Given the description of an element on the screen output the (x, y) to click on. 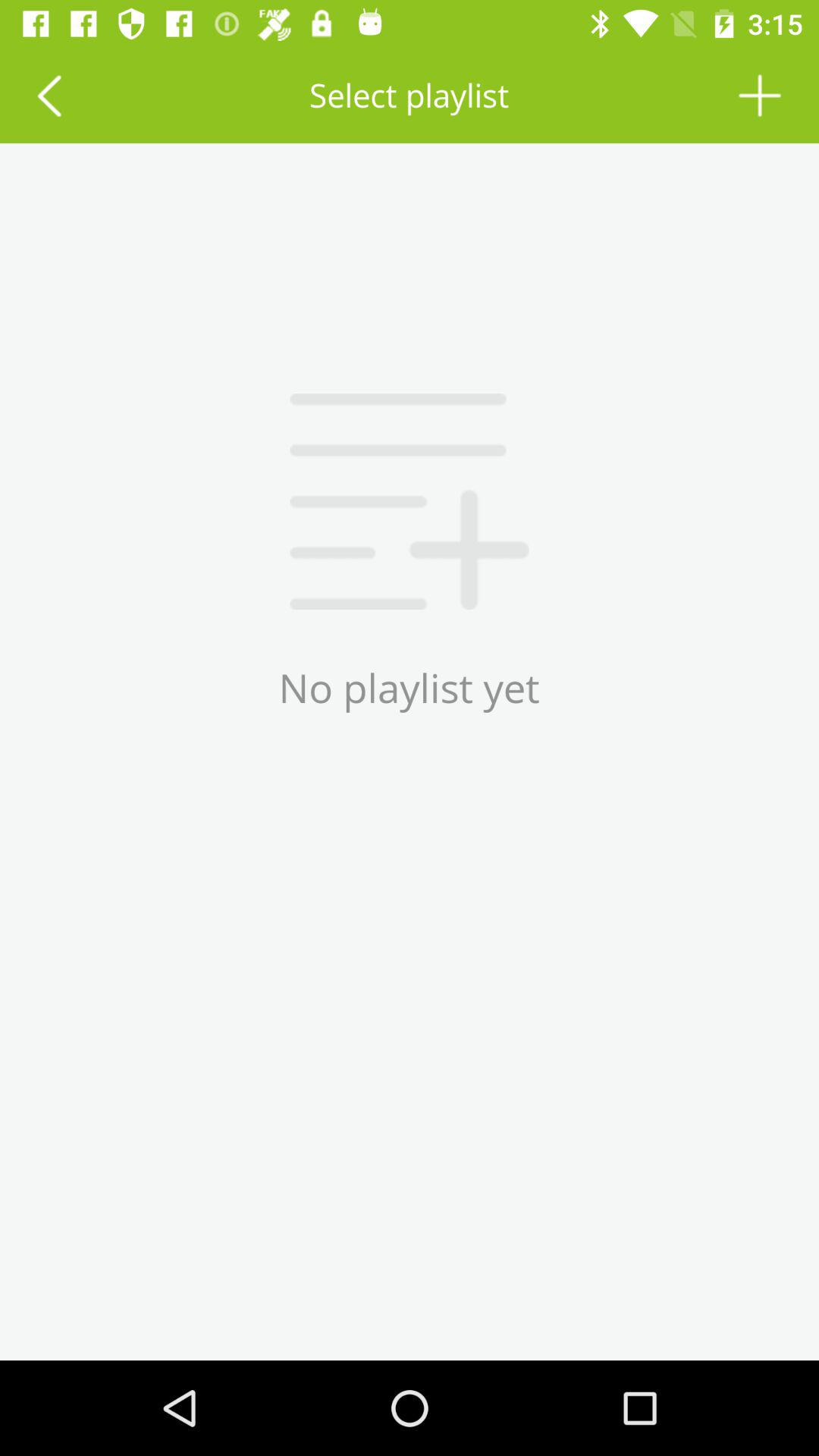
click the icon to the left of the select playlist icon (48, 95)
